Given the description of an element on the screen output the (x, y) to click on. 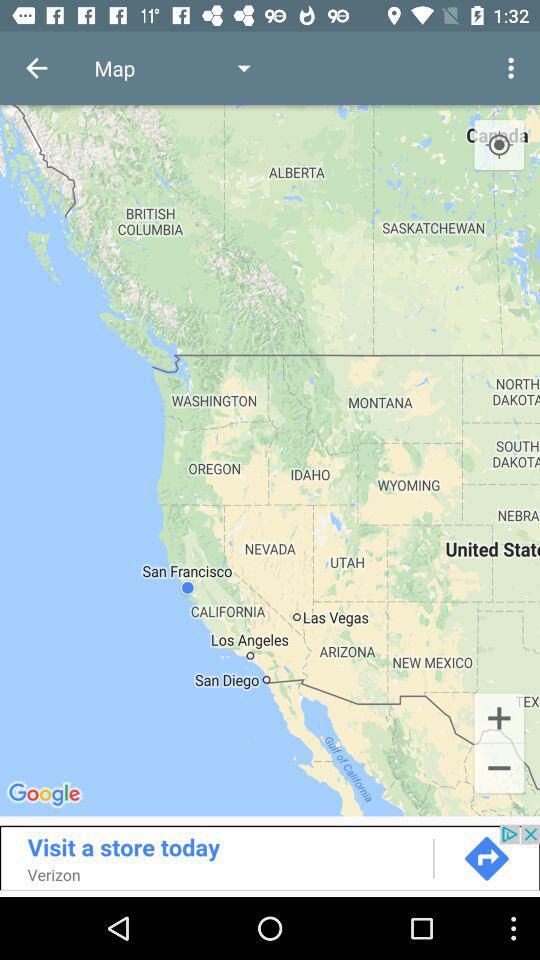
advertisement banner (270, 857)
